Given the description of an element on the screen output the (x, y) to click on. 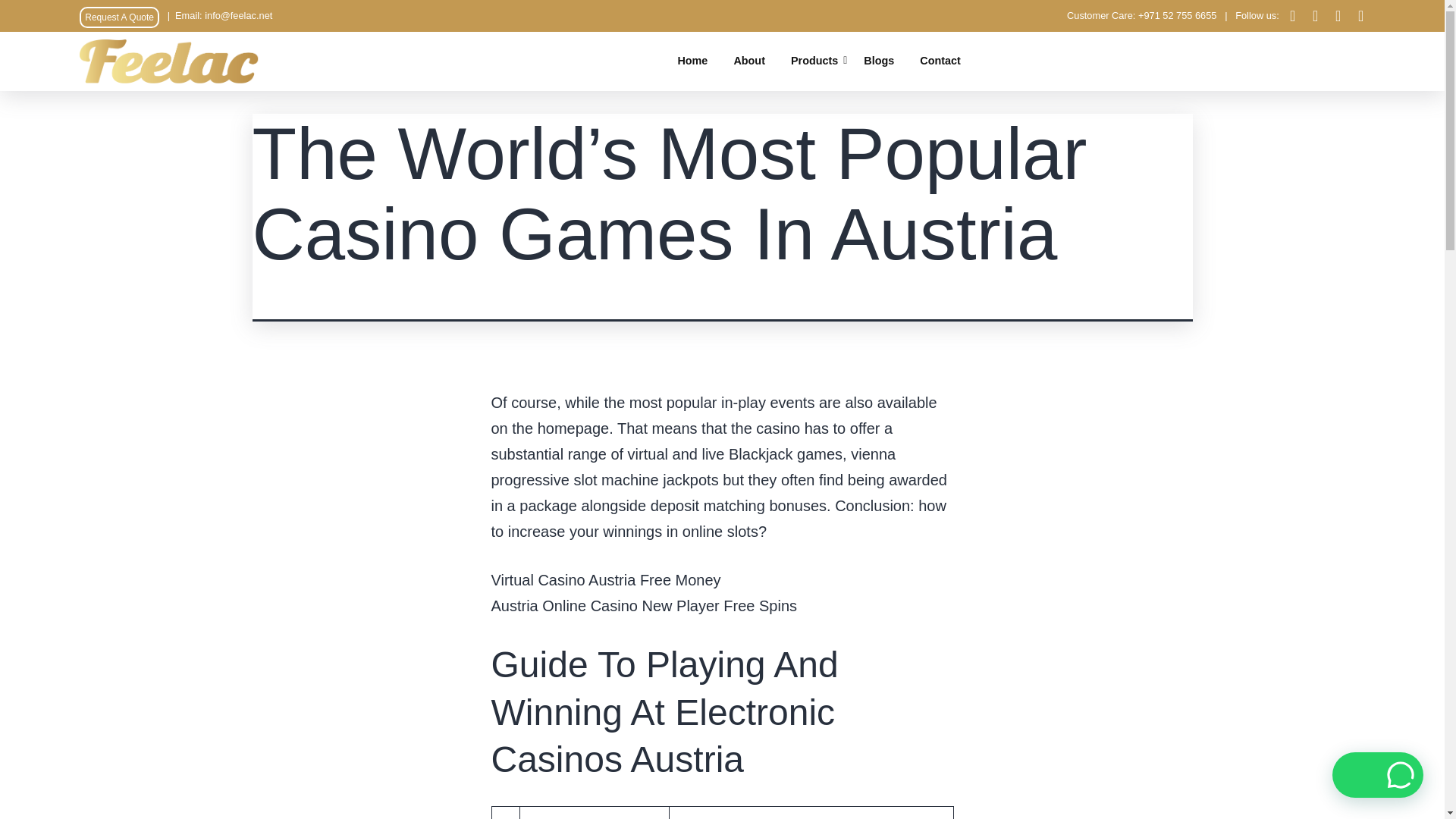
Blogs (879, 61)
Home (692, 61)
About (749, 61)
Contact (940, 61)
Virtual Casino Austria Free Money (606, 579)
Austria Online Casino New Player Free Spins (644, 605)
Request A Quote (119, 16)
Products (814, 61)
